Given the description of an element on the screen output the (x, y) to click on. 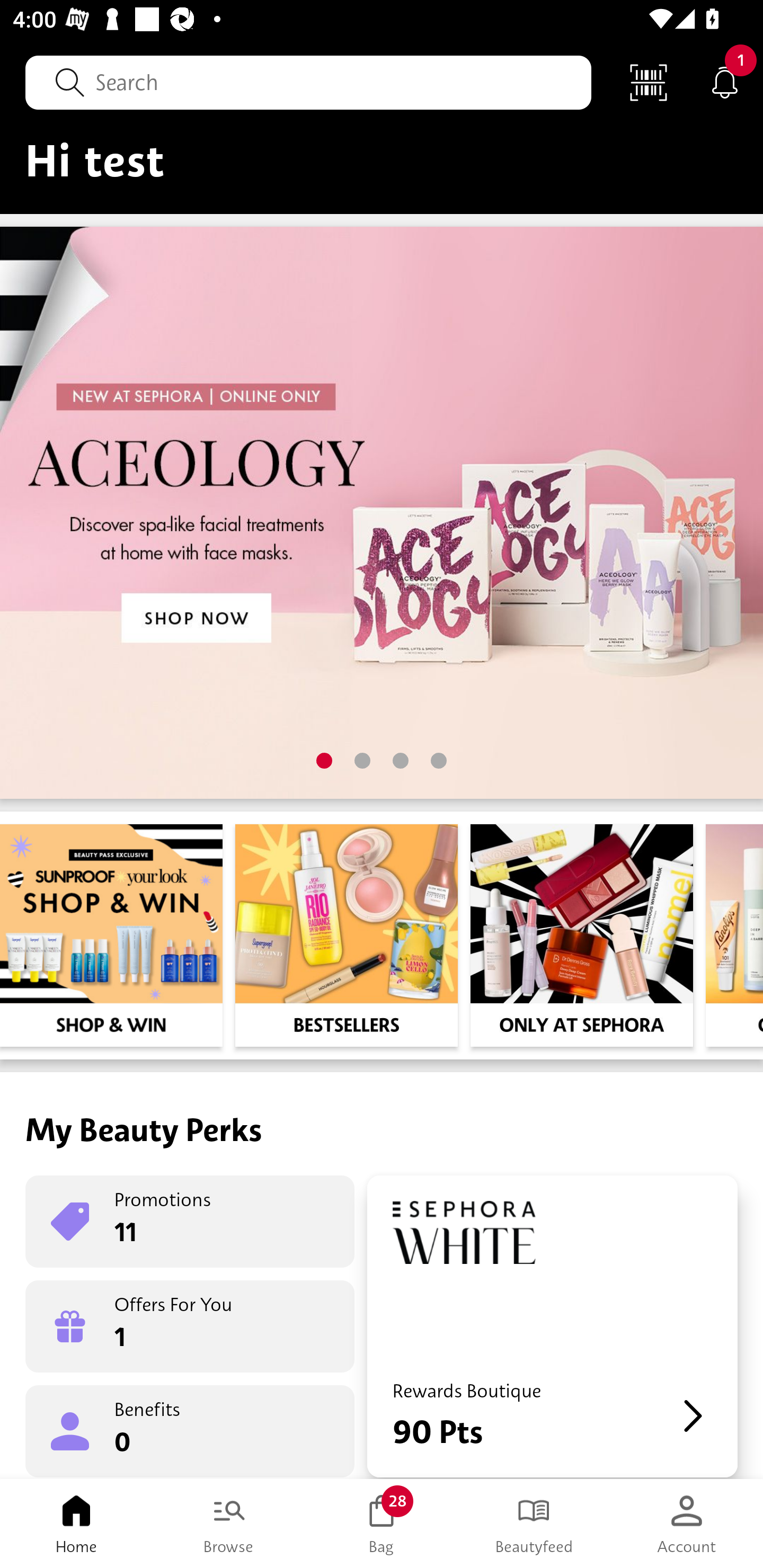
Scan Code (648, 81)
Notifications (724, 81)
Search (308, 81)
Promotions 11 (189, 1221)
Rewards Boutique 90 Pts (552, 1326)
Offers For You 1 (189, 1326)
Benefits 0 (189, 1430)
Browse (228, 1523)
Bag 28 Bag (381, 1523)
Beautyfeed (533, 1523)
Account (686, 1523)
